Given the description of an element on the screen output the (x, y) to click on. 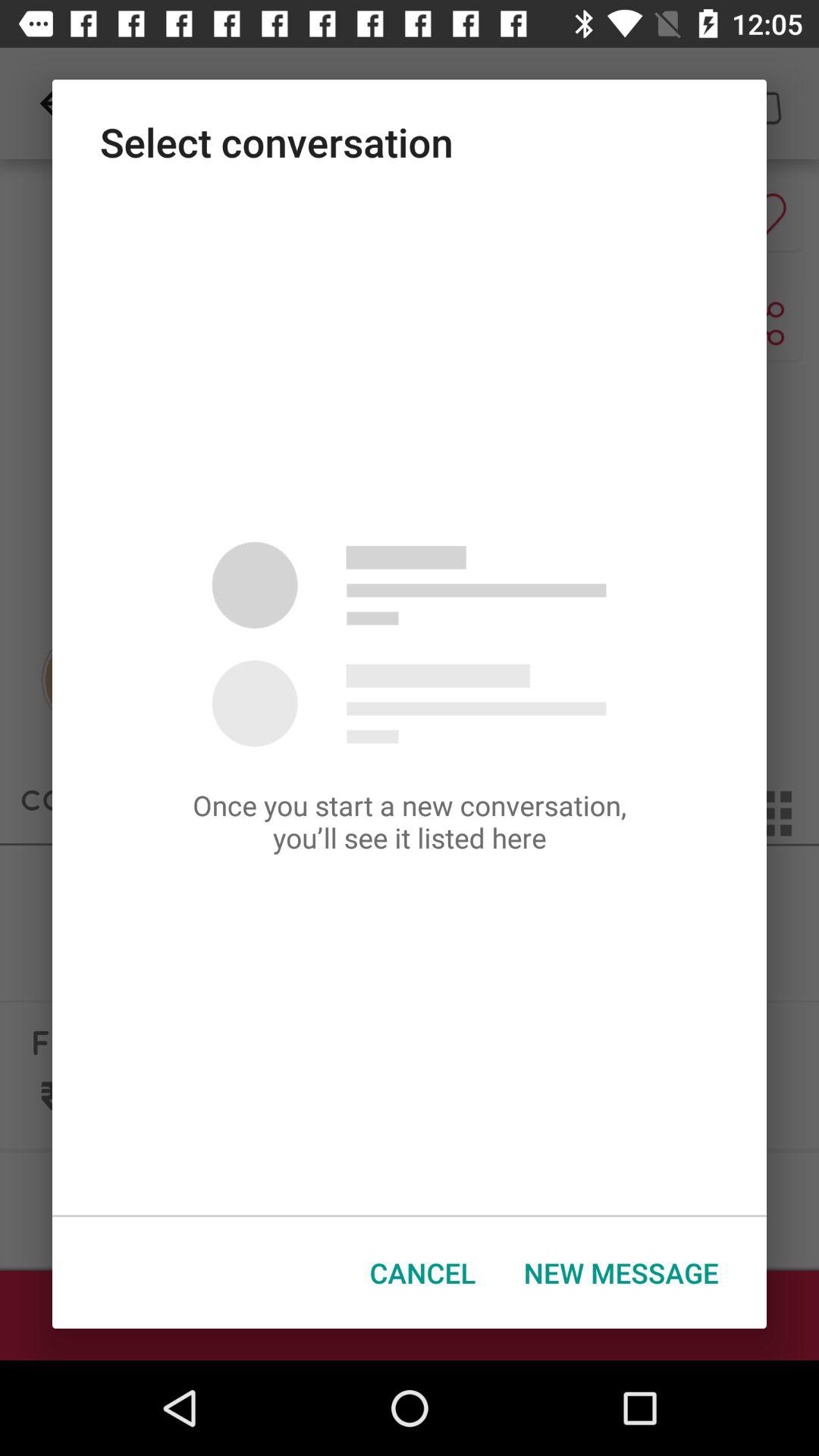
jump to the cancel button (422, 1272)
